Given the description of an element on the screen output the (x, y) to click on. 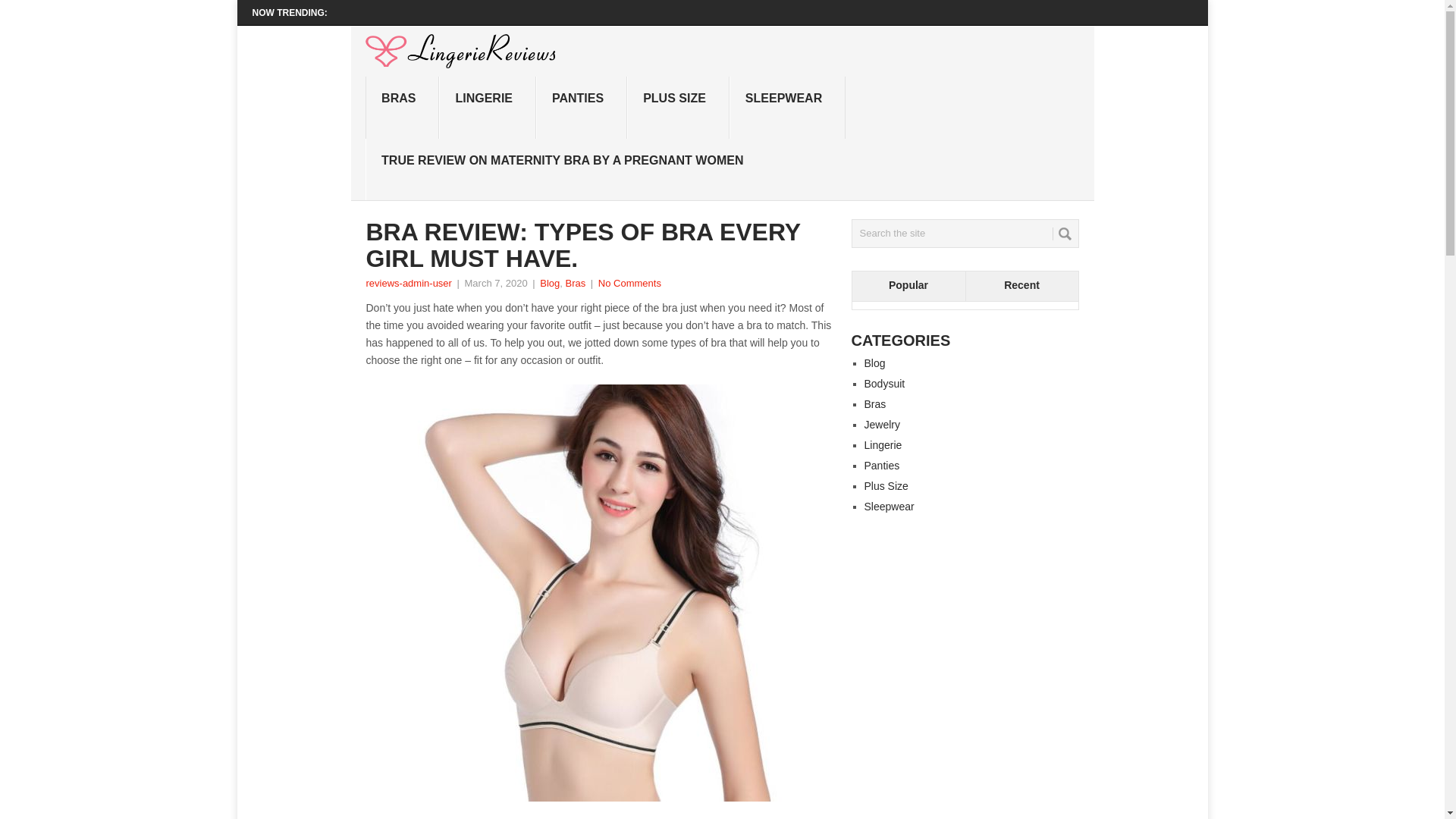
BRAS (402, 107)
Search (1064, 233)
PLUS SIZE (678, 107)
TRUE REVIEW ON MATERNITY BRA BY A PREGNANT WOMEN (565, 169)
Blog (549, 283)
Popular (908, 286)
No Comments (629, 283)
reviews-admin-user (408, 283)
PANTIES (581, 107)
Search (1064, 233)
Jewelry (881, 424)
Bras (875, 404)
LINGERIE (487, 107)
Bodysuit (884, 383)
Blog (874, 363)
